Given the description of an element on the screen output the (x, y) to click on. 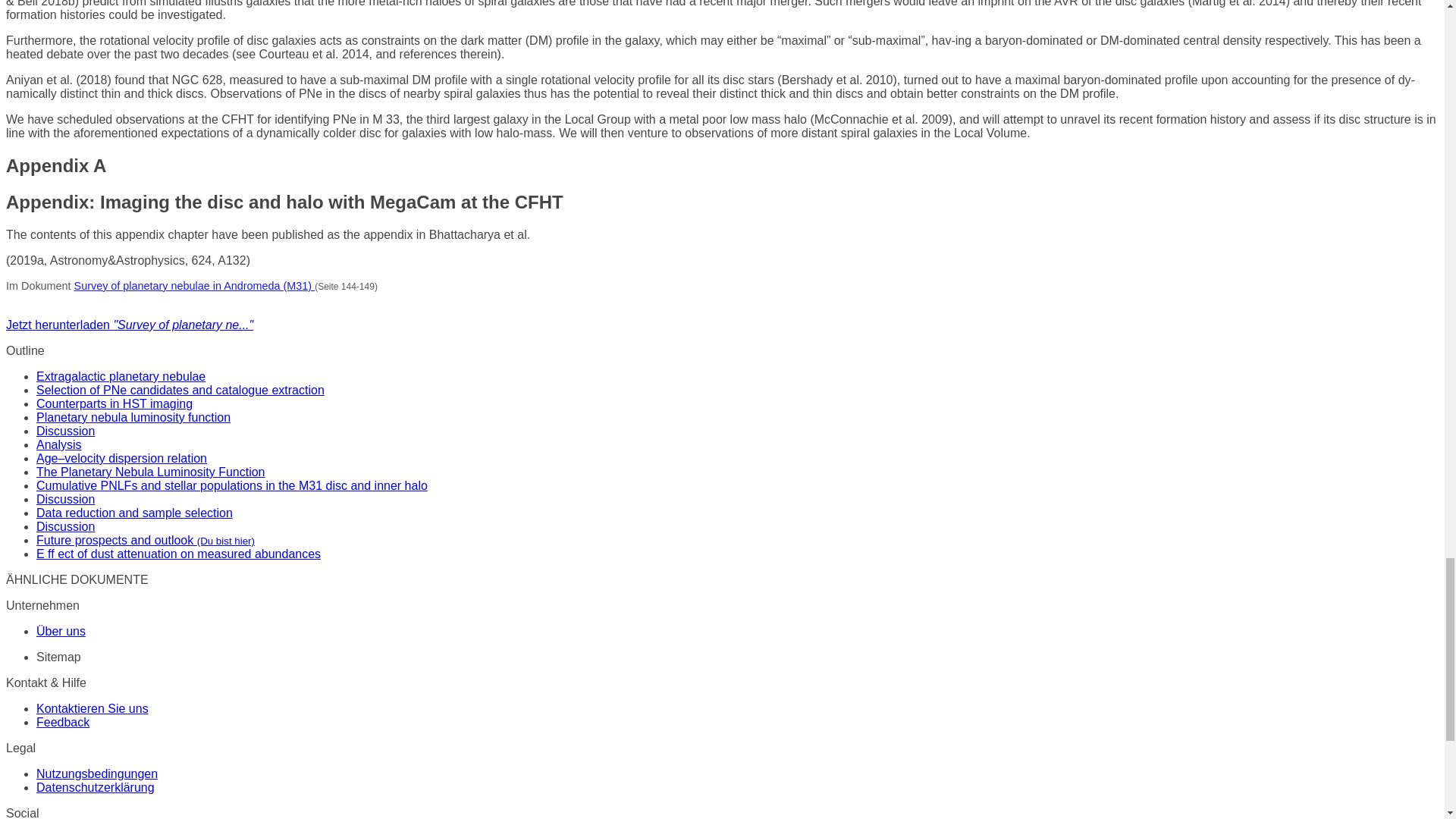
Analysis (58, 444)
Nutzungsbedingungen (96, 773)
Kontaktieren Sie uns (92, 707)
Discussion (65, 526)
Extragalactic planetary nebulae (120, 376)
Discussion (65, 431)
The Planetary Nebula Luminosity Function (150, 472)
Planetary nebula luminosity function (133, 417)
E ff ect of dust attenuation on measured abundances (178, 553)
